Given the description of an element on the screen output the (x, y) to click on. 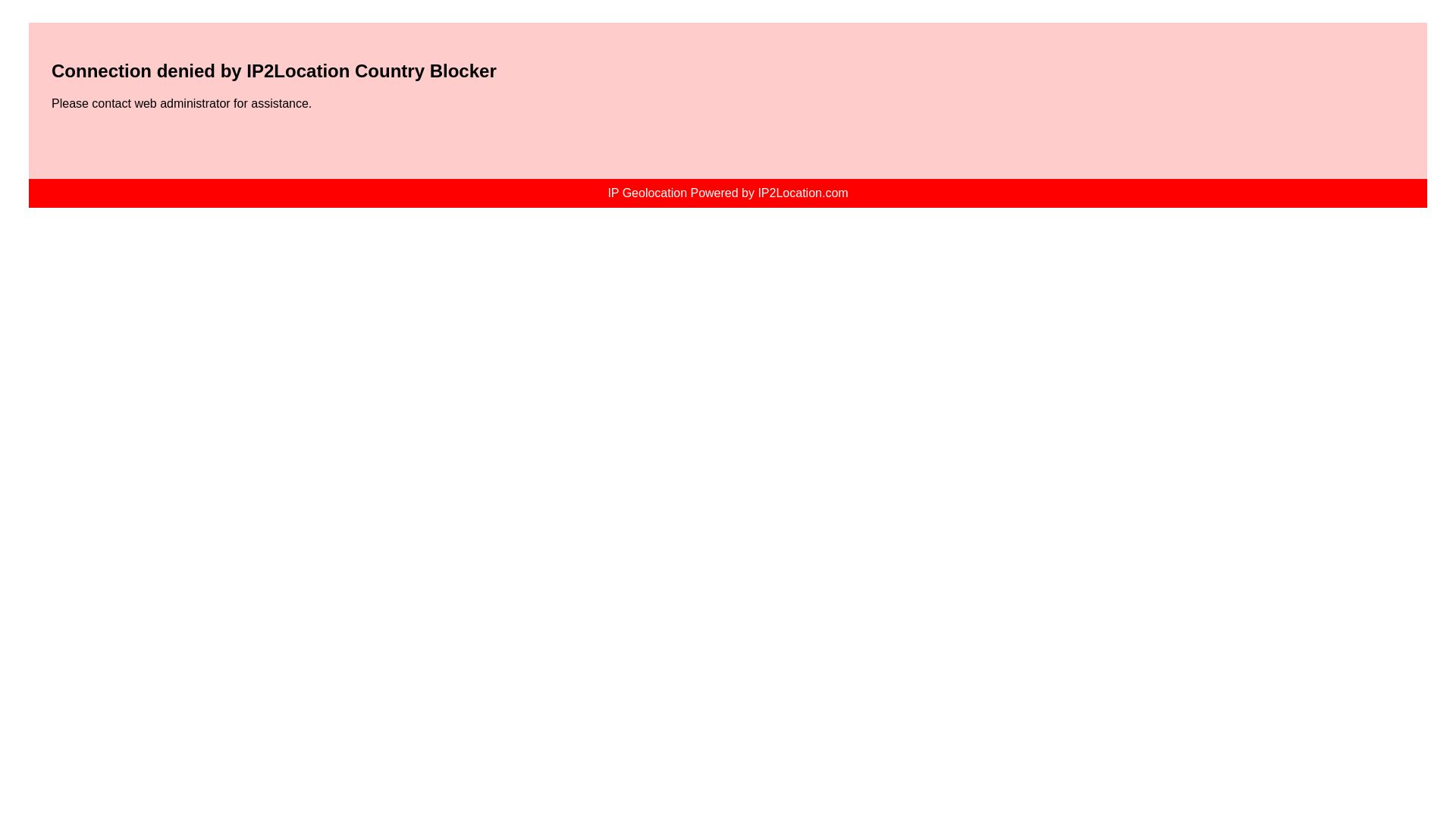
IP Geolocation Powered by IP2Location.com Element type: text (727, 192)
